Given the description of an element on the screen output the (x, y) to click on. 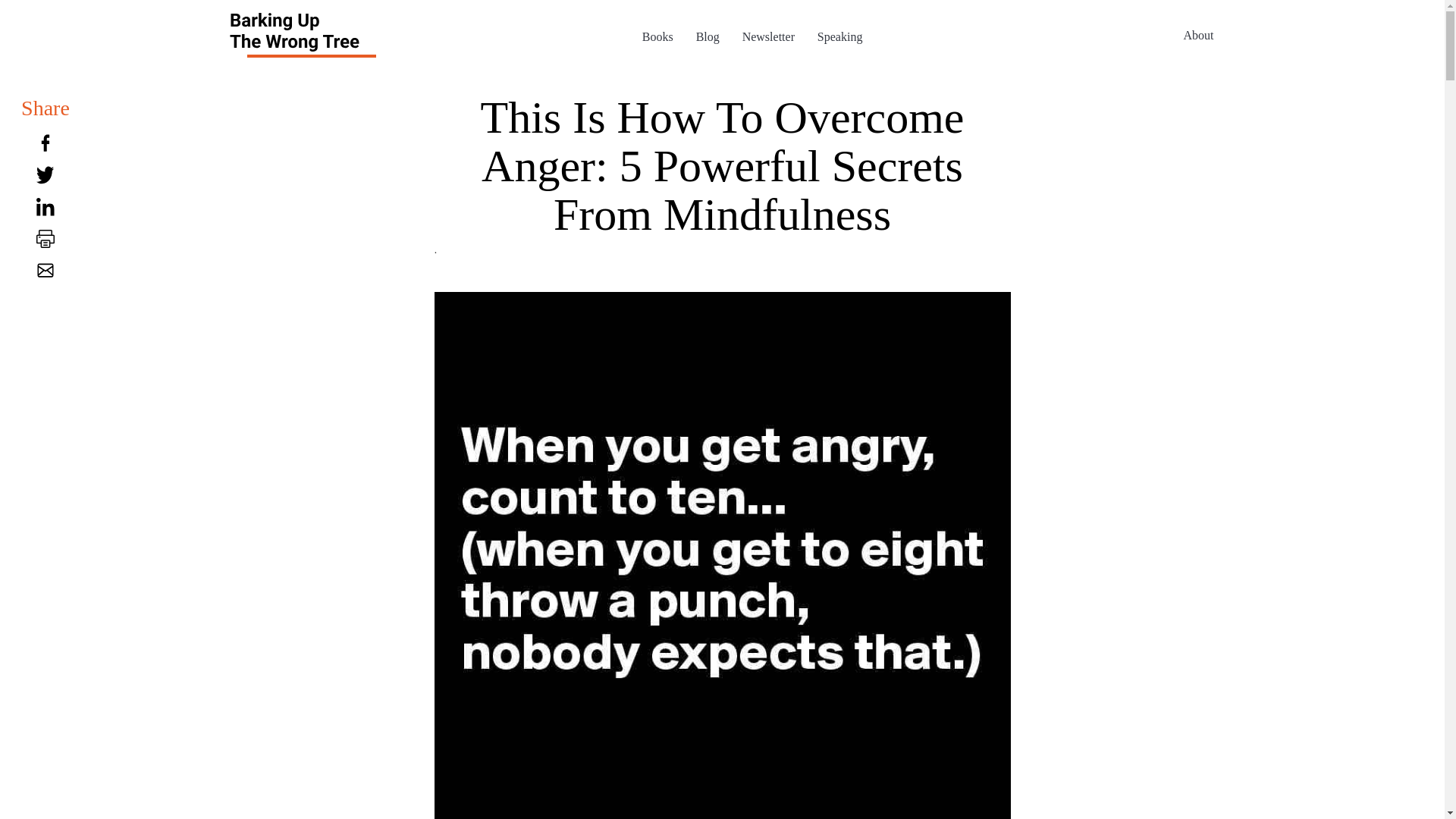
Speaking (839, 36)
Books (657, 36)
About (1198, 34)
Blog (707, 36)
Newsletter (768, 36)
